Given the description of an element on the screen output the (x, y) to click on. 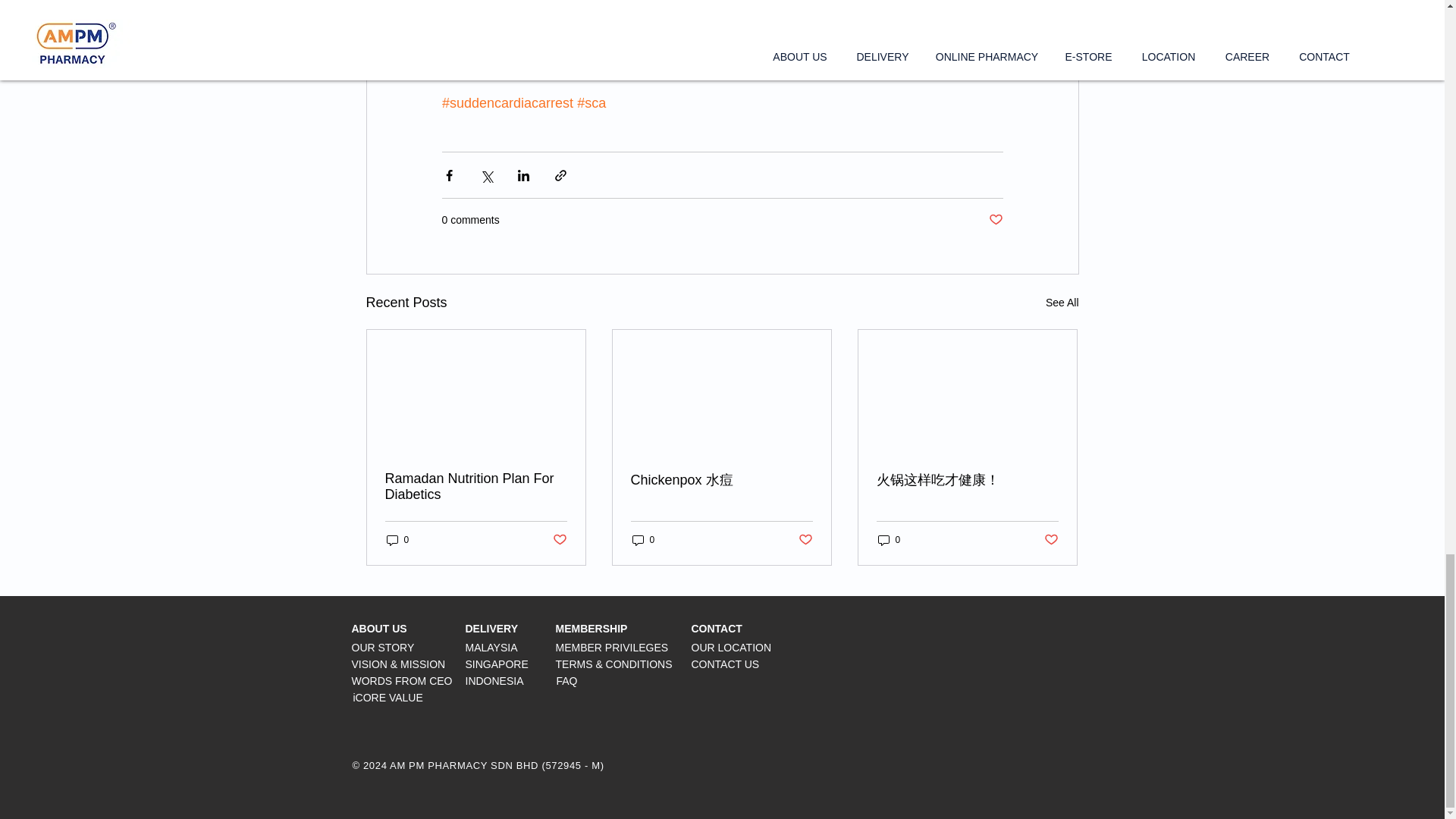
Post not marked as liked (1050, 539)
Post not marked as liked (558, 539)
Ramadan Nutrition Plan For Diabetics (476, 486)
0 (889, 540)
OUR STORY (383, 647)
0 (643, 540)
Post not marked as liked (995, 220)
See All (1061, 302)
0 (397, 540)
Post not marked as liked (804, 539)
